Given the description of an element on the screen output the (x, y) to click on. 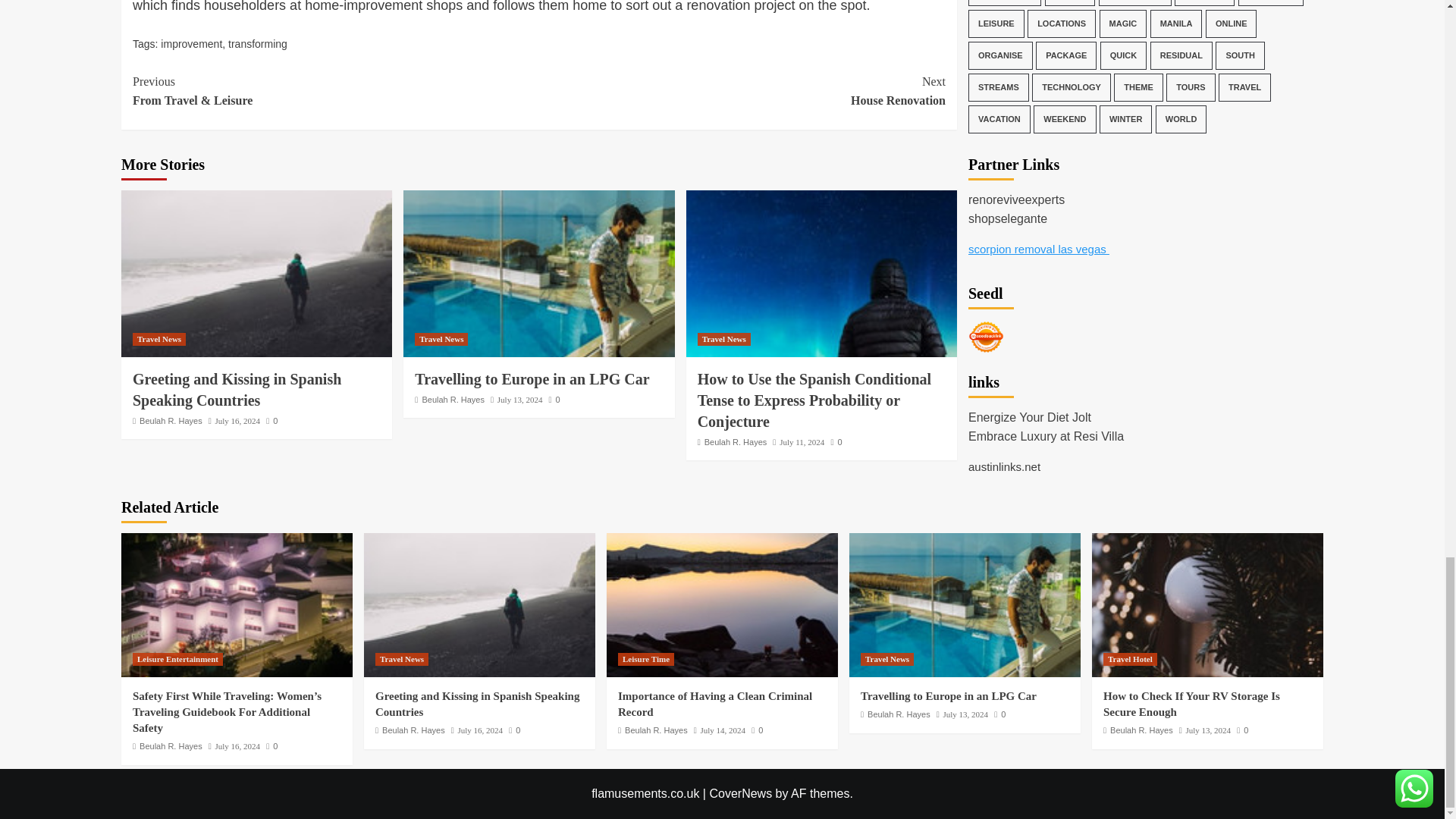
Beulah R. Hayes (170, 420)
improvement (741, 91)
Greeting and Kissing in Spanish Speaking Countries (191, 43)
Travelling to Europe in an LPG Car (255, 273)
transforming (538, 273)
Travel News (257, 43)
Greeting and Kissing in Spanish Speaking Countries (159, 338)
